Given the description of an element on the screen output the (x, y) to click on. 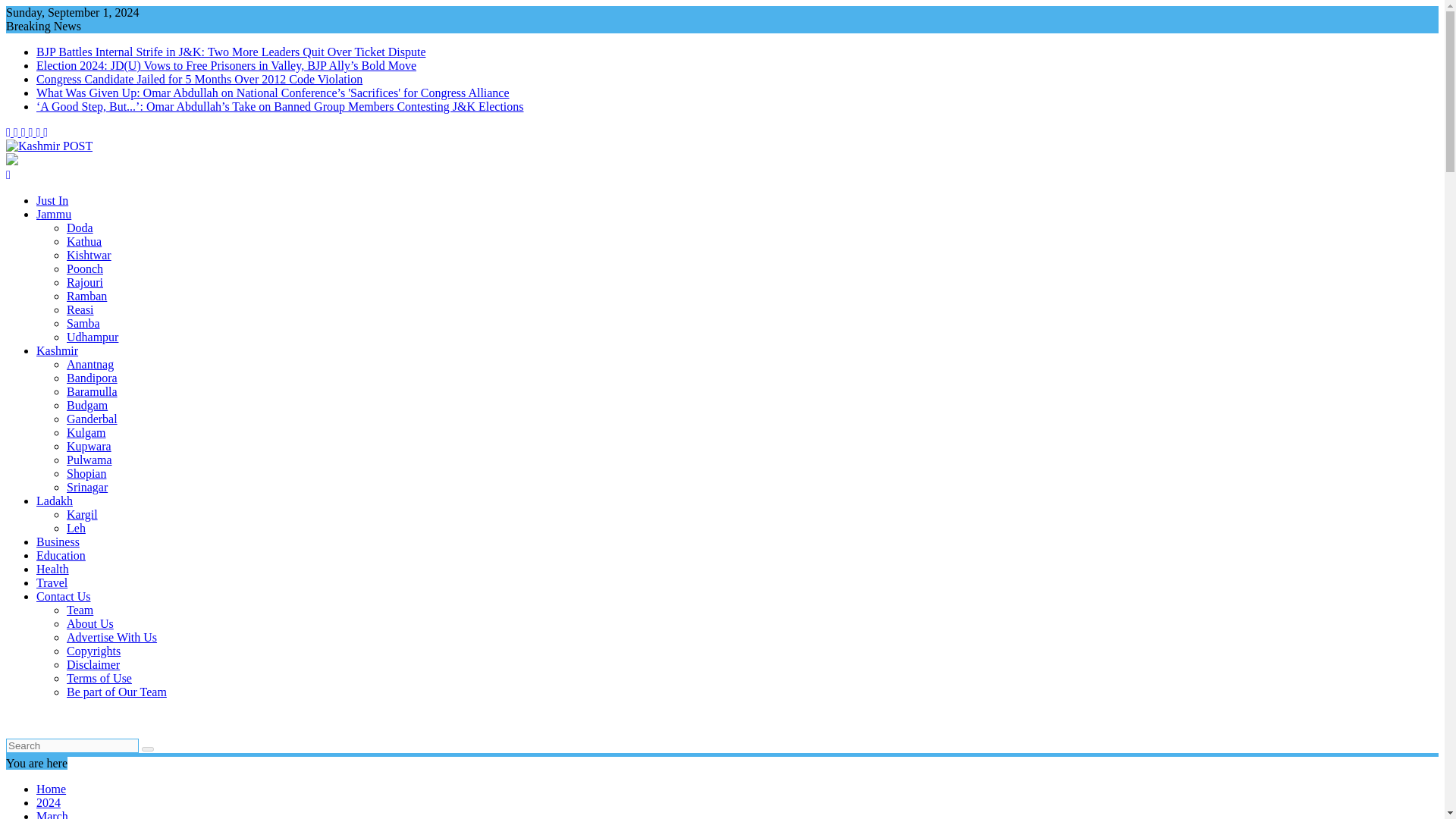
Kulgam (86, 431)
Shopian (86, 472)
Rajouri (84, 282)
Just In (52, 200)
Kashmir (57, 350)
Reasi (80, 309)
Kargil (81, 513)
Jammu (53, 214)
